Given the description of an element on the screen output the (x, y) to click on. 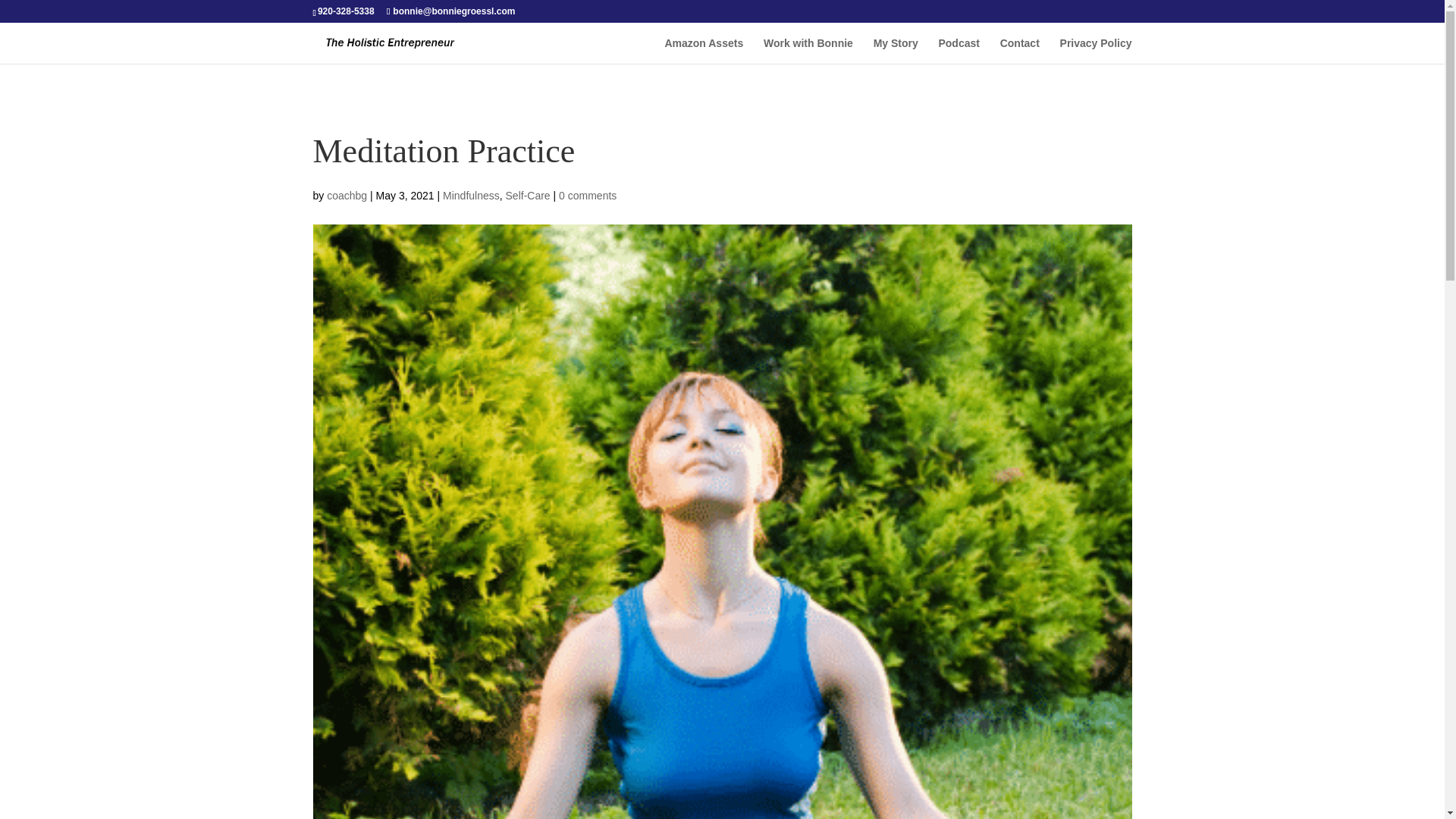
Privacy Policy (1095, 50)
coachbg (346, 195)
Mindfulness (470, 195)
My Story (895, 50)
Work with Bonnie (807, 50)
0 comments (587, 195)
Podcast (957, 50)
Contact (1019, 50)
Posts by coachbg (346, 195)
Amazon Assets (702, 50)
